Given the description of an element on the screen output the (x, y) to click on. 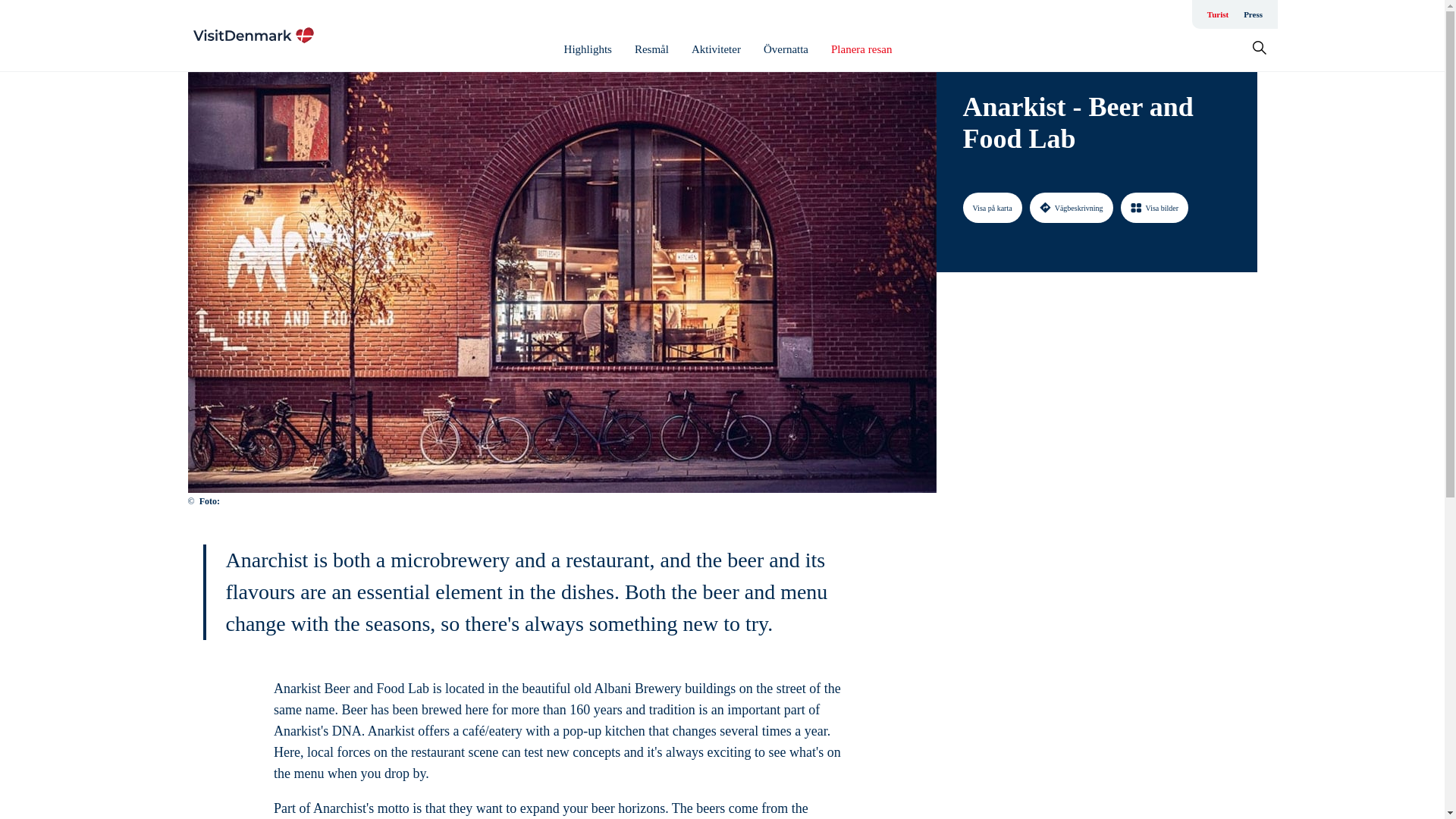
Press (1252, 14)
Aktiviteter (716, 49)
Visa bilder (1155, 207)
Go to homepage (253, 35)
Planera resan (861, 49)
Highlights (587, 49)
Turist (1217, 14)
